Given the description of an element on the screen output the (x, y) to click on. 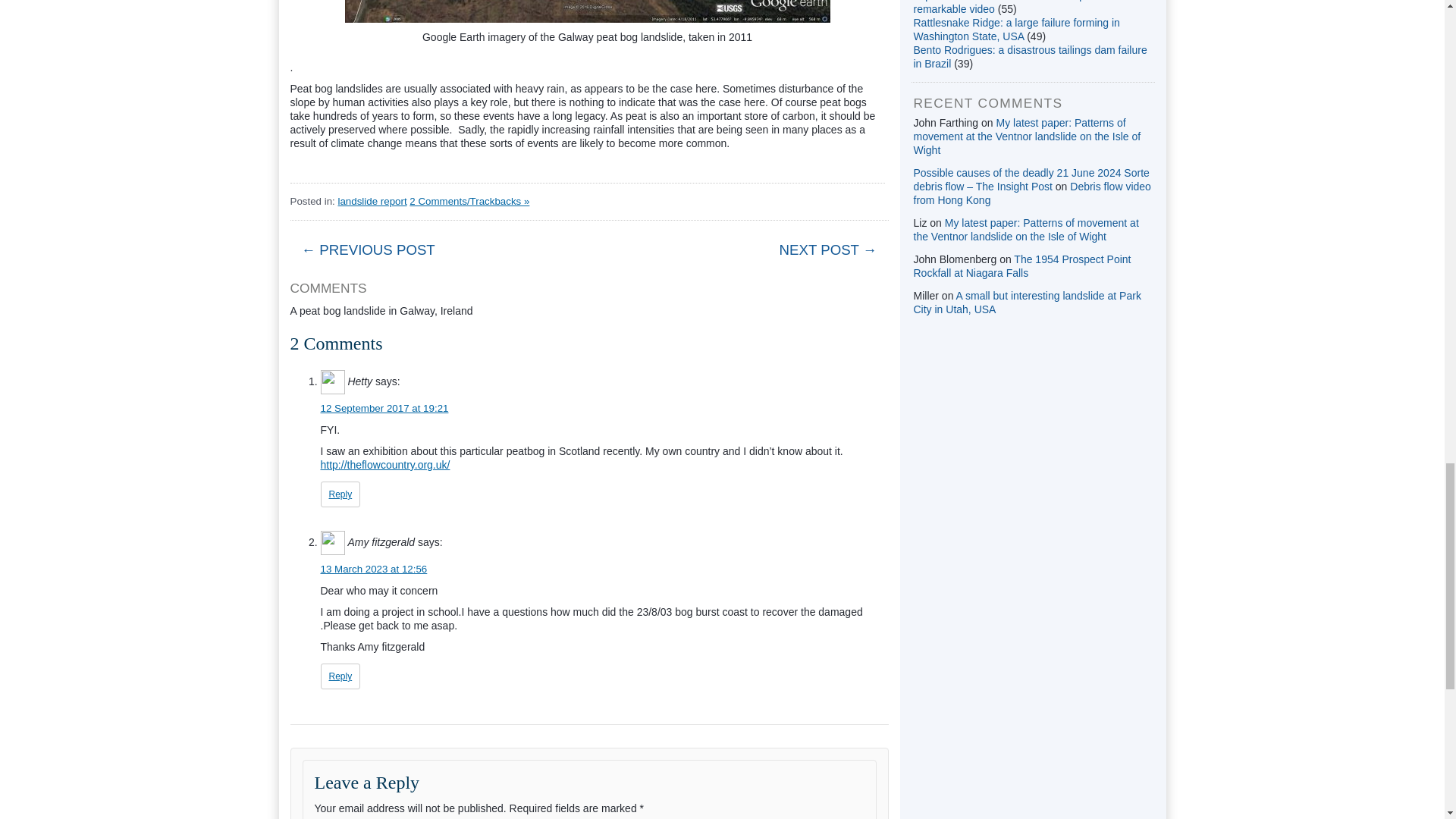
landslide report (371, 201)
Reply (339, 493)
13 March 2023 at 12:56 (373, 568)
Reply (339, 676)
12 September 2017 at 19:21 (384, 408)
